Given the description of an element on the screen output the (x, y) to click on. 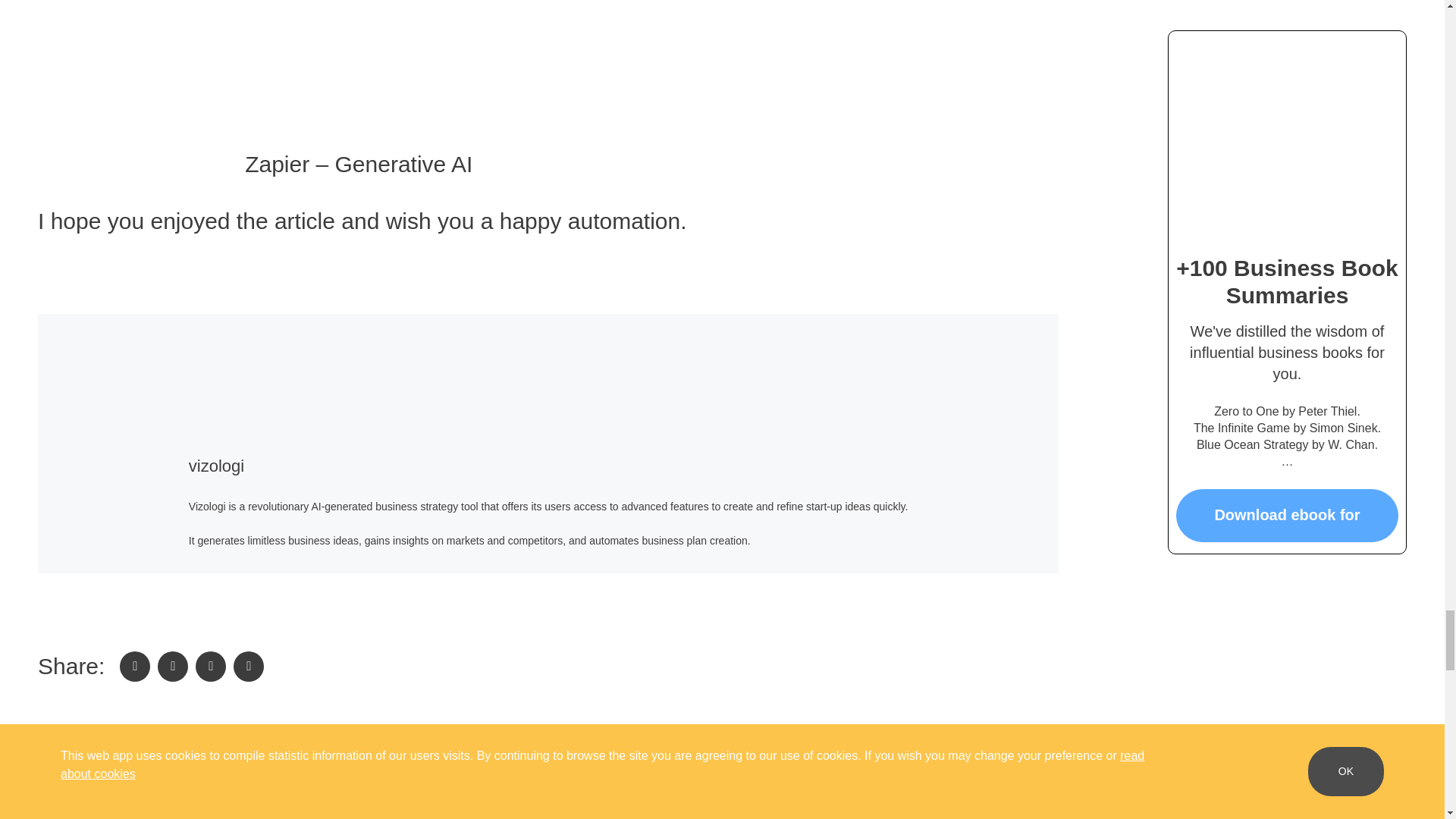
Twitter (172, 666)
Facebook (134, 666)
LinkedIn (210, 666)
Pinterest (247, 666)
vizologi (216, 465)
